Given the description of an element on the screen output the (x, y) to click on. 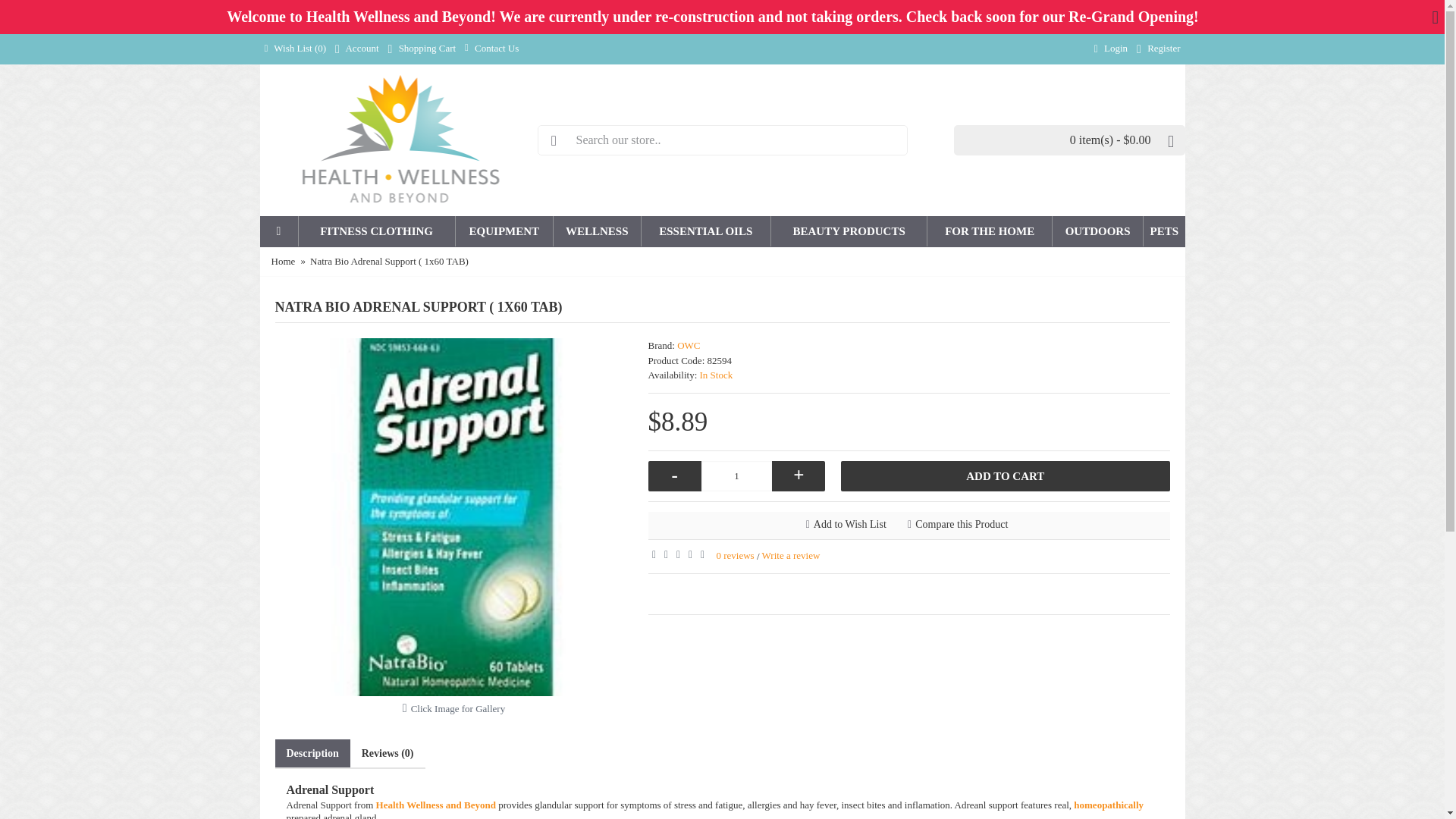
Account (356, 49)
1 (737, 476)
Login (1110, 49)
Shopping Cart (422, 49)
WELLNESS (596, 231)
Register (1158, 49)
FITNESS CLOTHING (376, 231)
Contact Us (491, 49)
ESSENTIAL OILS (706, 231)
EQUIPMENT (504, 231)
HealthWellnessAndBeyond.com (397, 140)
